Given the description of an element on the screen output the (x, y) to click on. 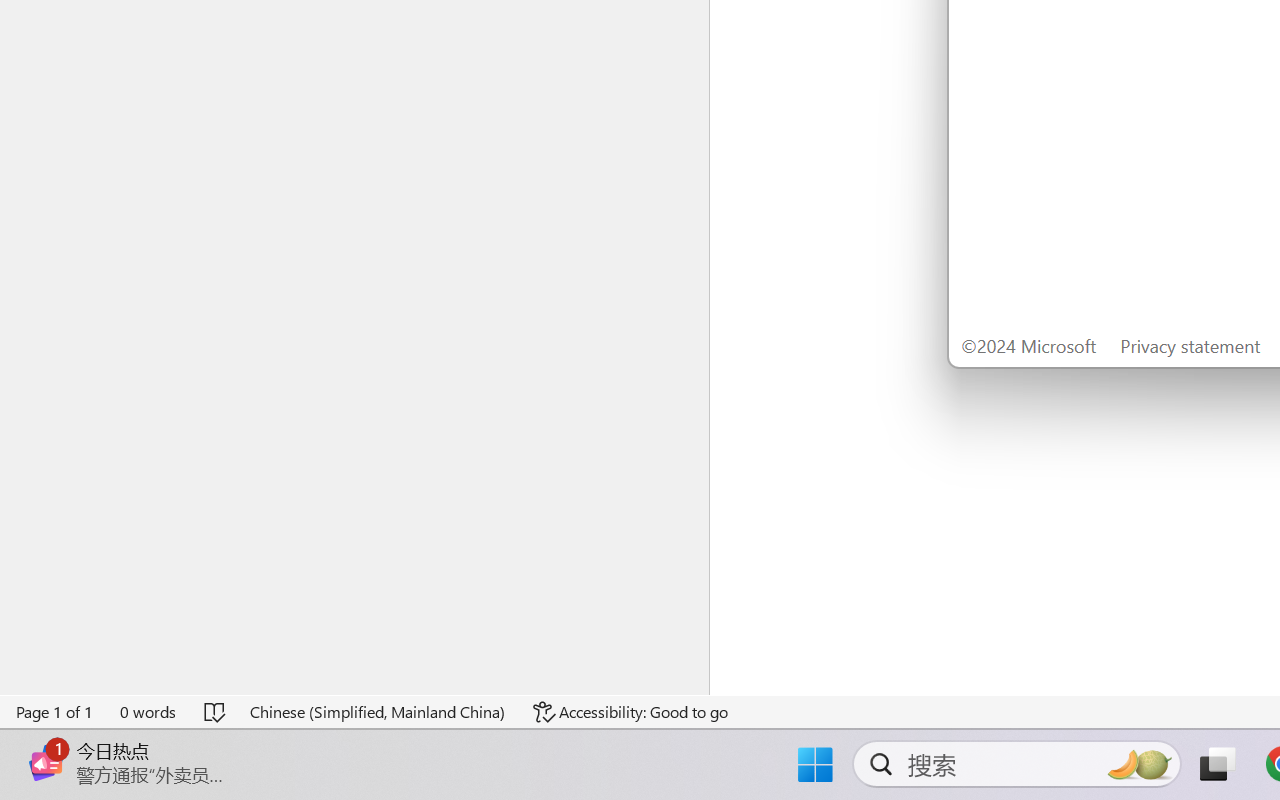
Language Chinese (Simplified, Mainland China) (378, 712)
